Given the description of an element on the screen output the (x, y) to click on. 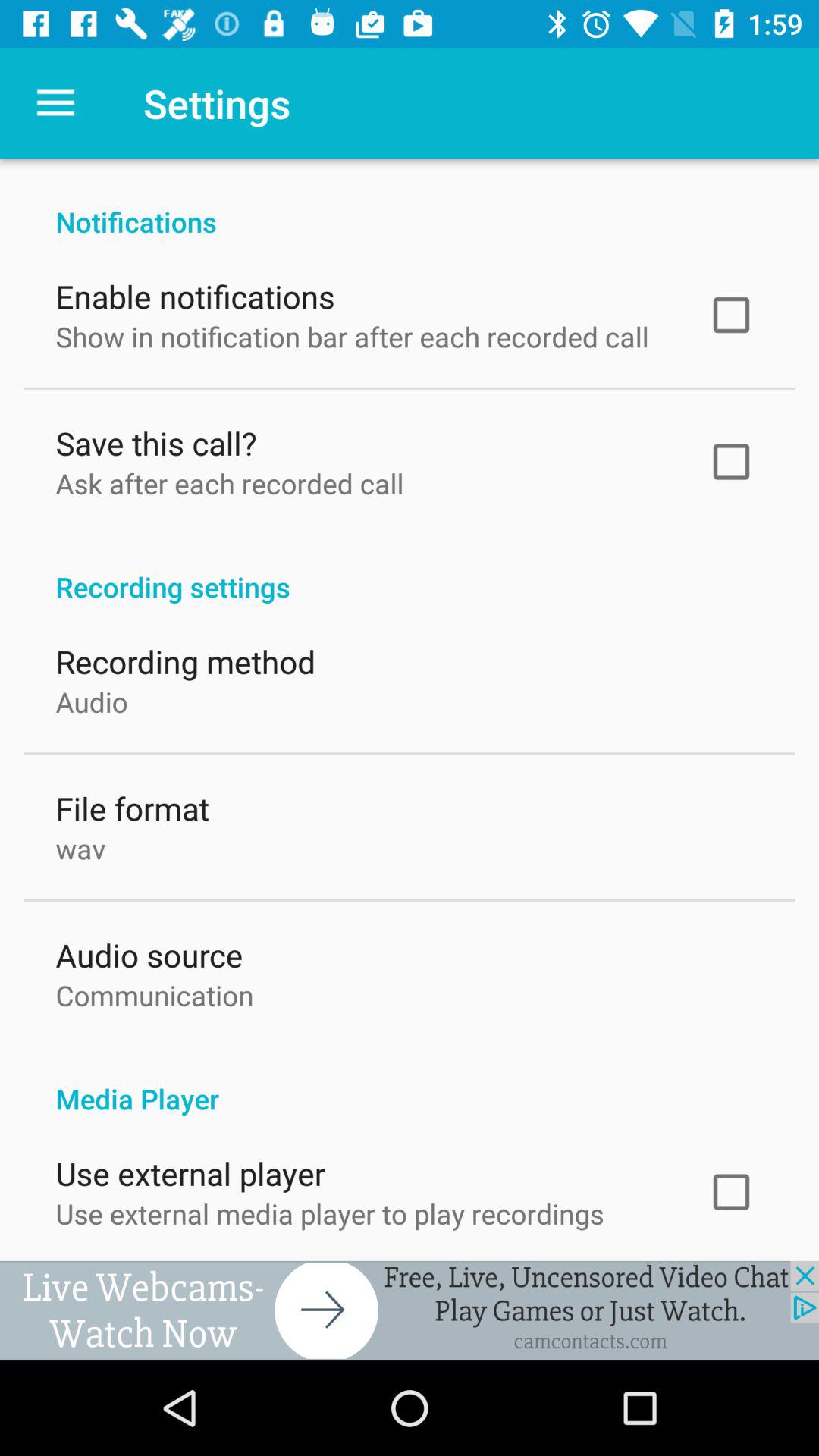
choose item below the wav (148, 951)
